Given the description of an element on the screen output the (x, y) to click on. 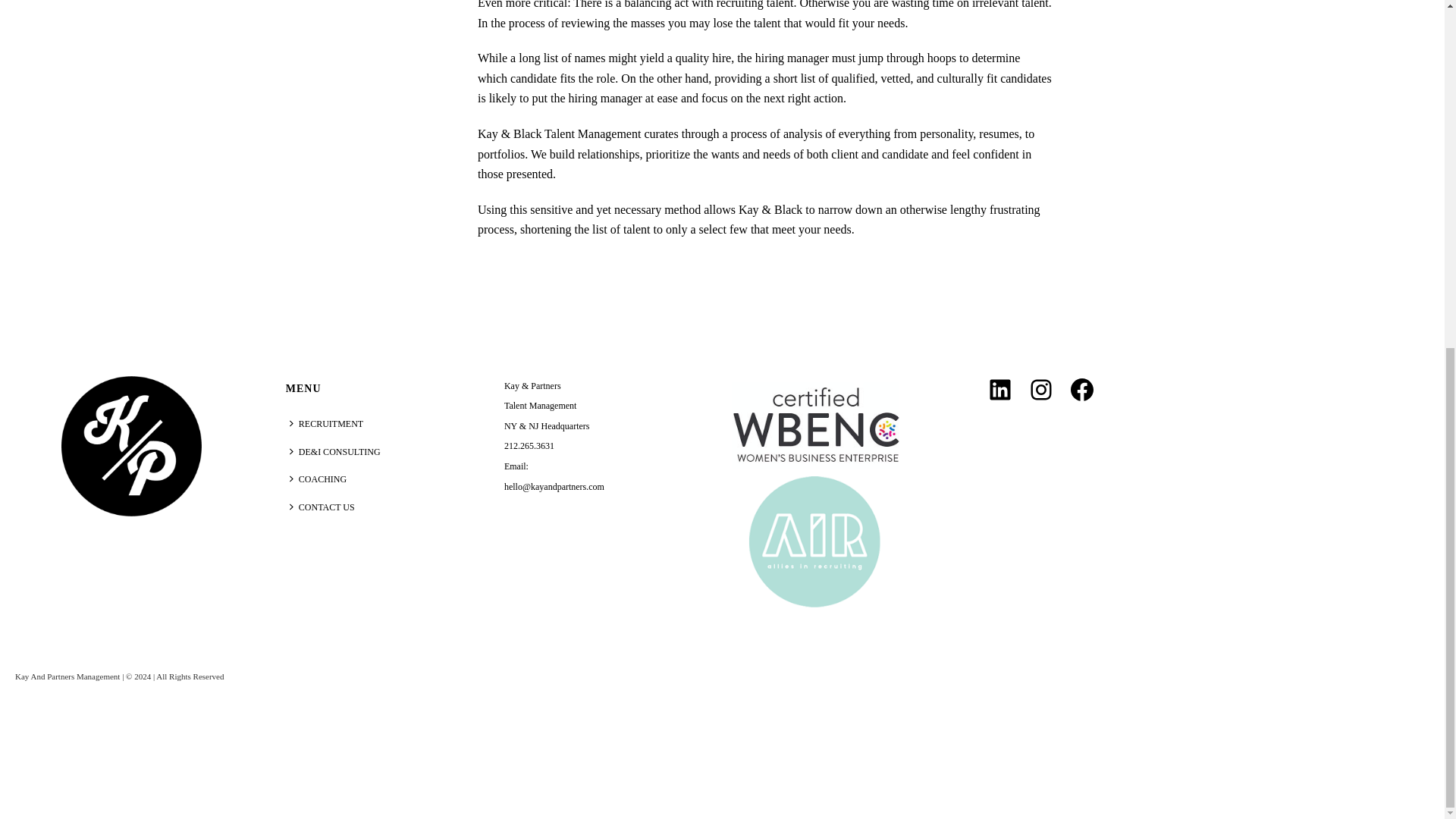
RECRUITMENT (329, 424)
Instagram (1040, 389)
COACHING (321, 479)
LinkedIn (999, 389)
CONTACT US (325, 507)
212.265.3631 (528, 445)
Facebook (1080, 389)
